Given the description of an element on the screen output the (x, y) to click on. 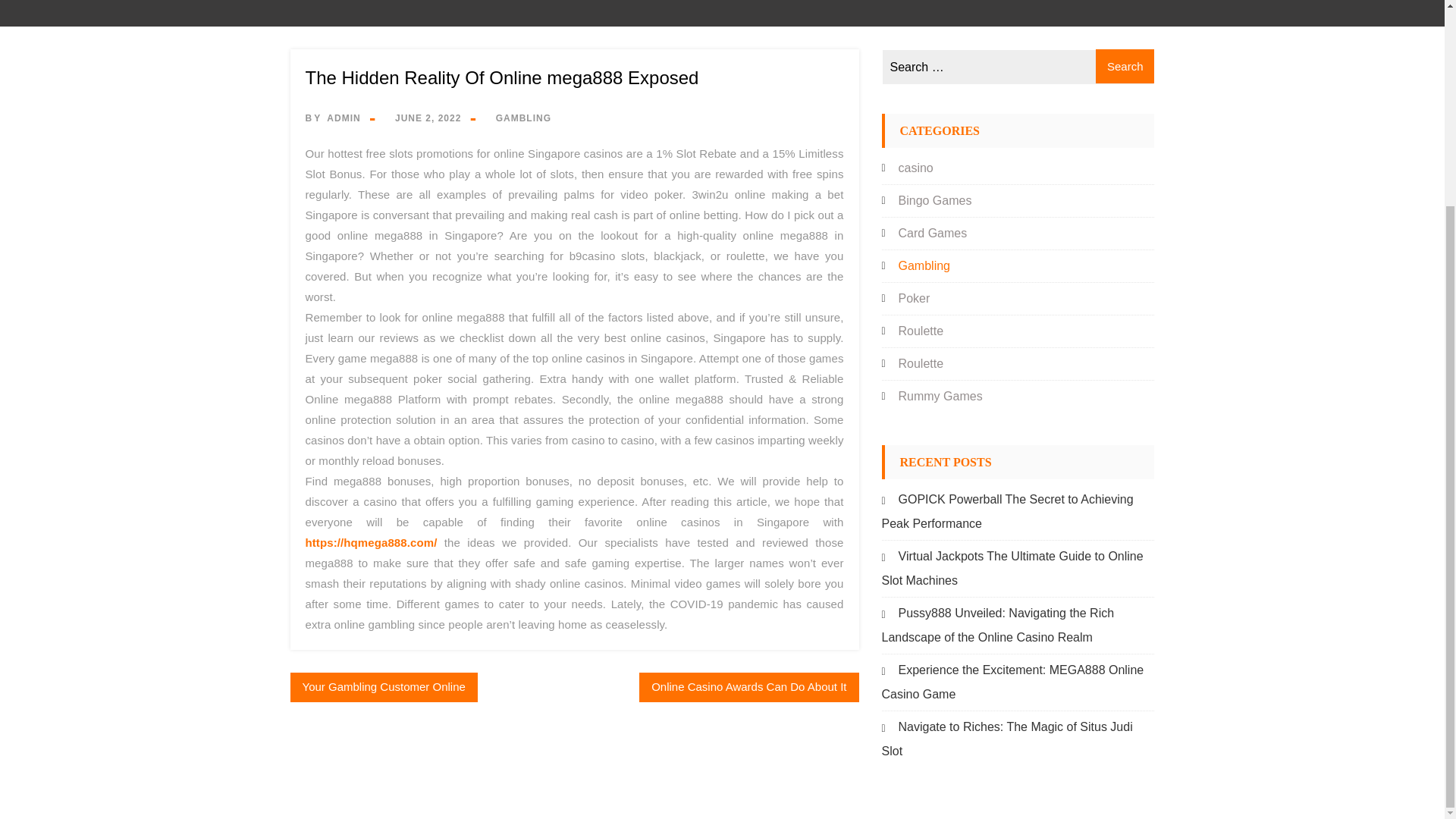
Your Gambling Customer Online (383, 686)
Experience the Excitement: MEGA888 Online Casino Game (1011, 682)
Gambling (923, 265)
Search (1125, 66)
Poker (914, 297)
casino (915, 167)
ADMIN (342, 118)
Roulette (920, 363)
Card Games (932, 232)
Search (1125, 66)
GAMBLING (523, 118)
Search (1125, 66)
Online Casino Awards Can Do About It (749, 686)
Rummy Games (939, 395)
Navigate to Riches: The Magic of Situs Judi Slot (1006, 738)
